Given the description of an element on the screen output the (x, y) to click on. 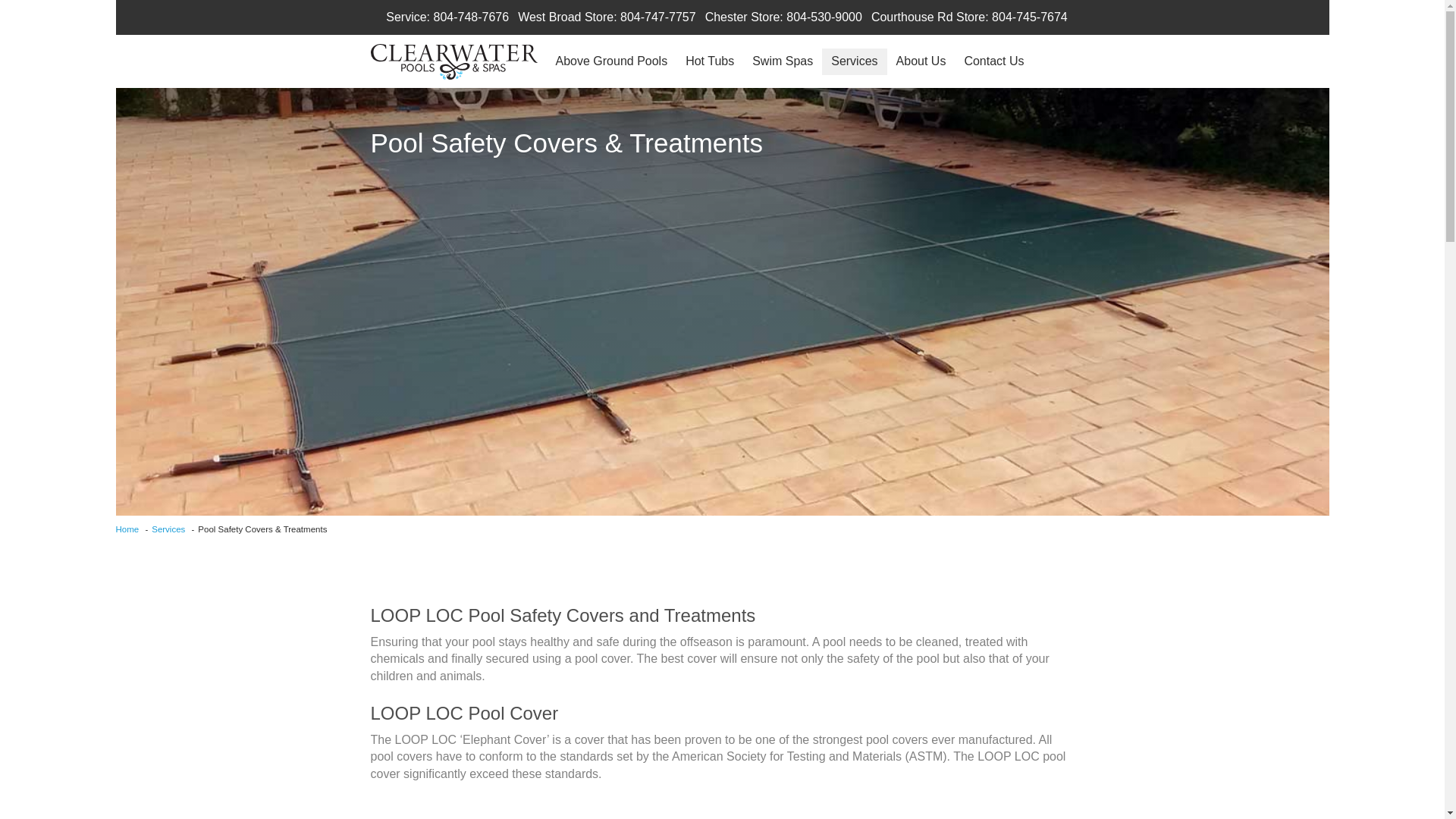
About Us (921, 61)
Hot Tubs (709, 61)
Swim Spas (782, 61)
Services (167, 528)
Contact Us (993, 61)
Services (854, 61)
Home (126, 528)
Above Ground Pools (610, 61)
